Given the description of an element on the screen output the (x, y) to click on. 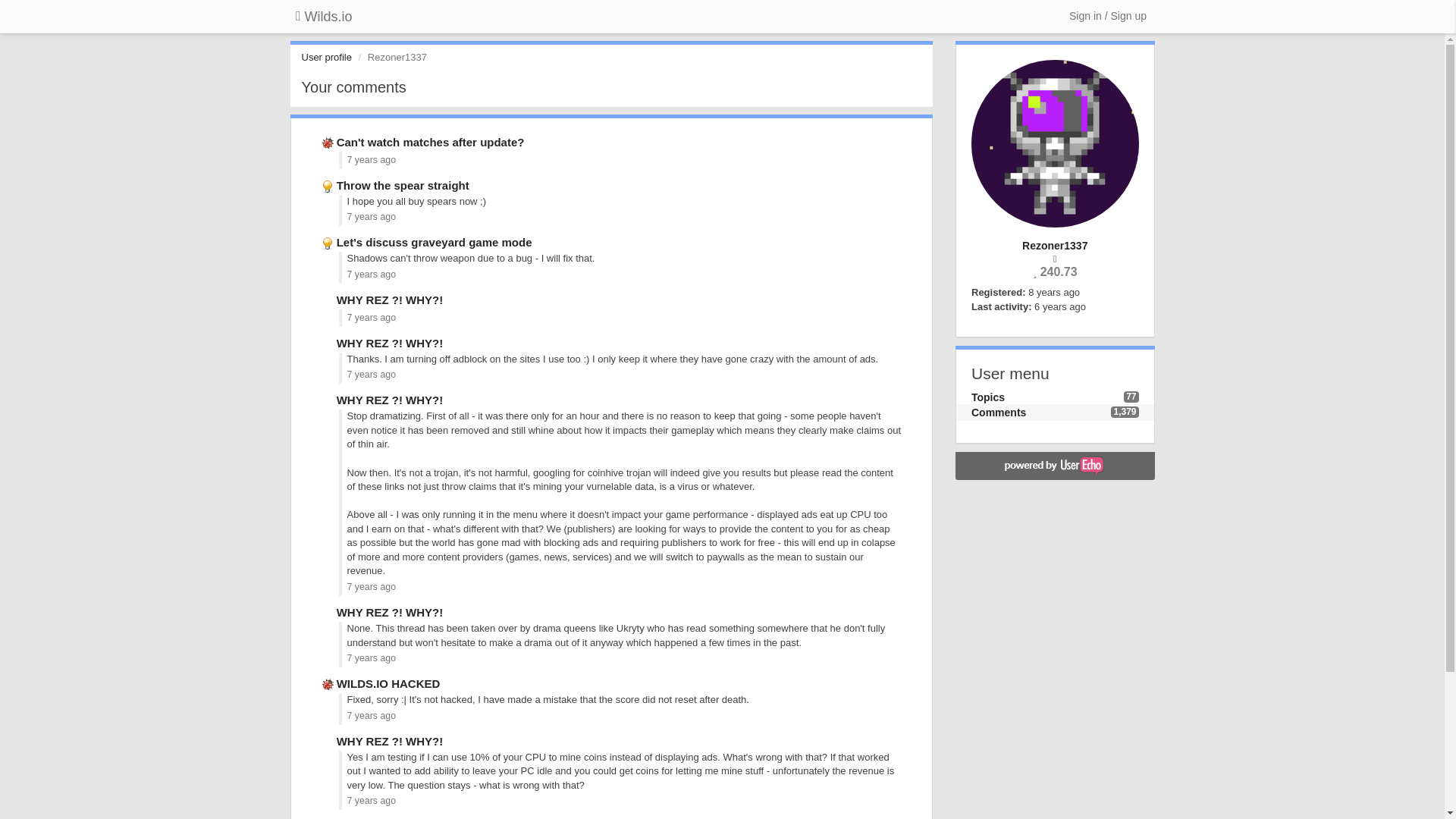
Ideas (328, 241)
WHY REZ ?! WHY?! (390, 740)
7 years ago (371, 715)
Bugs (328, 141)
Bugs (328, 683)
Questions (328, 399)
User profile (326, 57)
Let's discuss graveyard game mode (434, 241)
WHY REZ ?! WHY?! (390, 399)
7 years ago (371, 317)
Can't watch matches after update? (430, 141)
WHY REZ ?! WHY?! (390, 612)
7 years ago (371, 800)
Questions (328, 299)
Questions (328, 740)
